Given the description of an element on the screen output the (x, y) to click on. 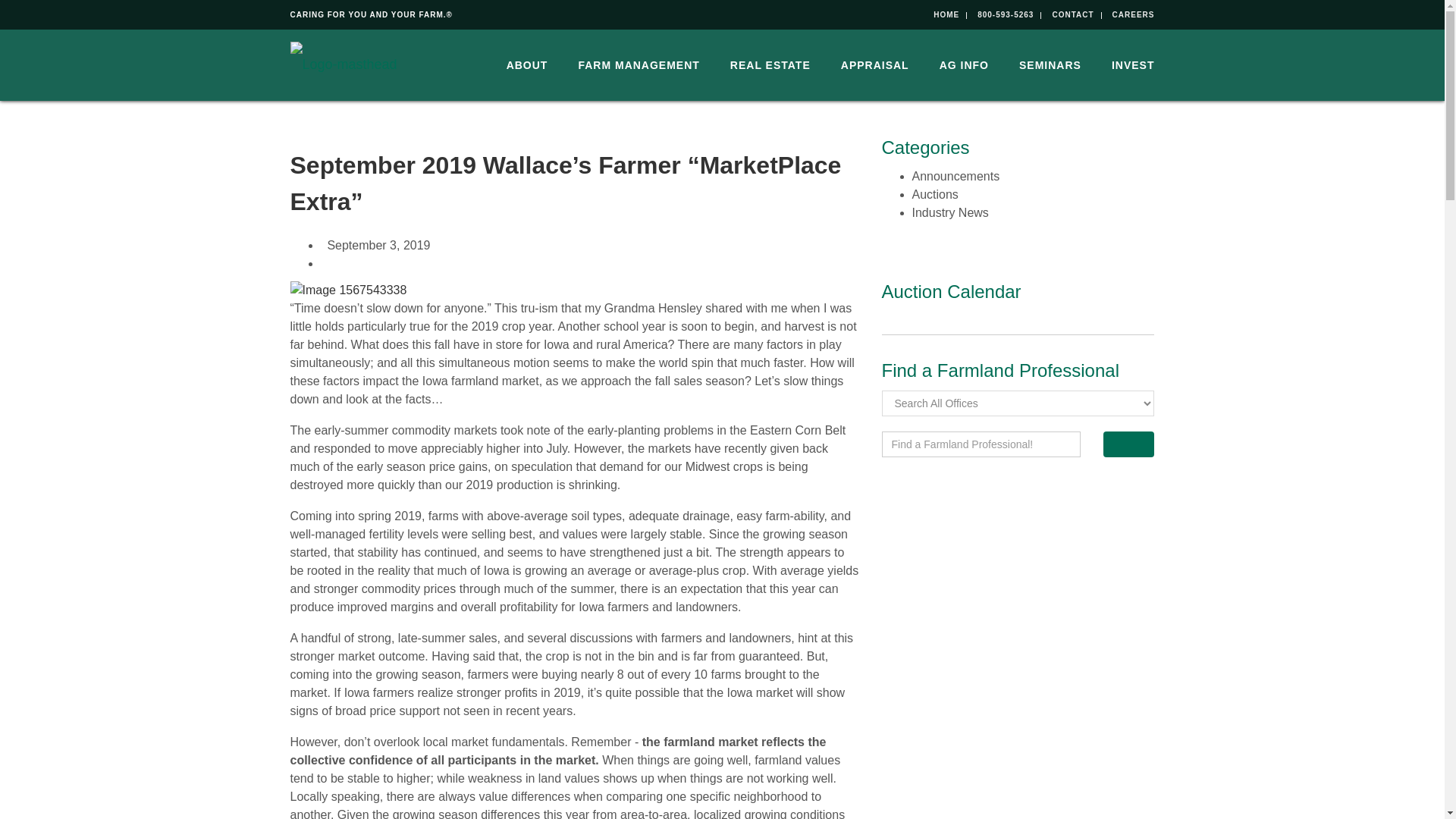
Announcements (954, 175)
Real Estate (769, 64)
SEMINARS (1050, 64)
Industry News (949, 212)
Hertz Farm Management Home (946, 14)
Careers (1133, 14)
REAL ESTATE (769, 64)
APPRAISAL (874, 64)
HOME (946, 14)
FARM MANAGEMENT (638, 64)
